Given the description of an element on the screen output the (x, y) to click on. 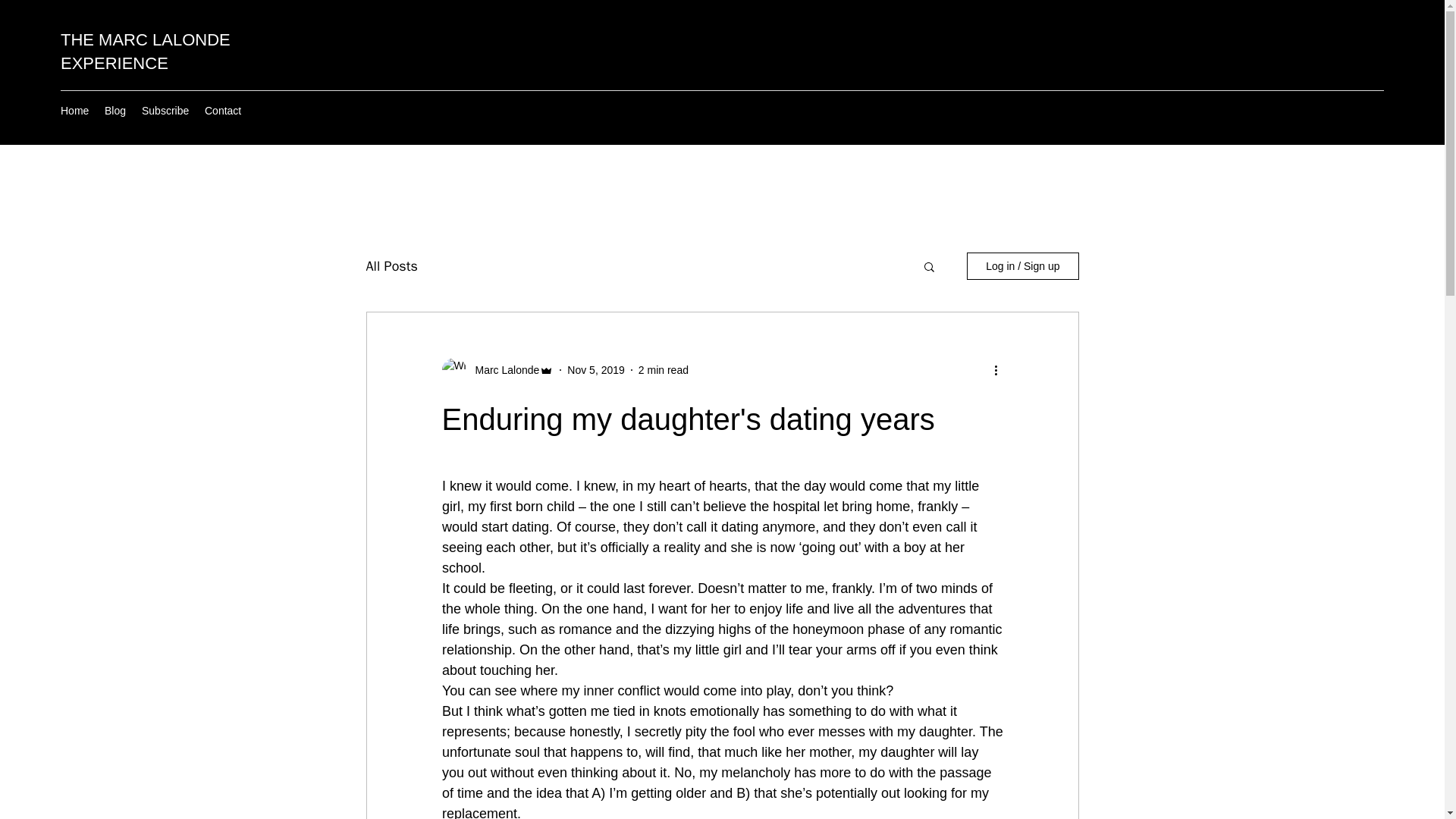
THE MARC LALONDE EXPERIENCE (145, 51)
Blog (115, 110)
Contact (223, 110)
Subscribe (164, 110)
Home (74, 110)
Nov 5, 2019 (595, 369)
2 min read (663, 369)
All Posts (390, 266)
Marc Lalonde (501, 370)
